Given the description of an element on the screen output the (x, y) to click on. 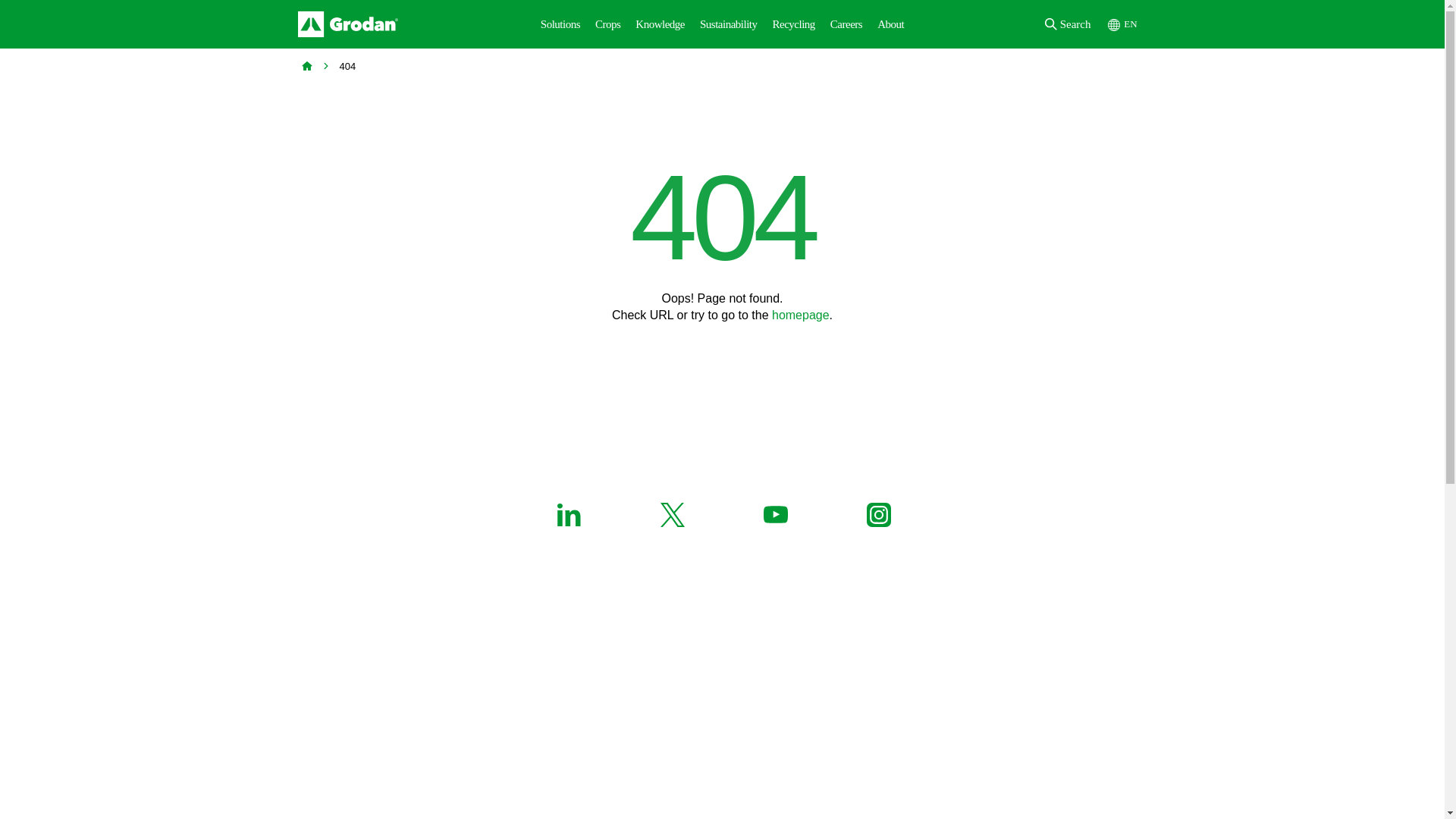
Search (1072, 24)
EN (1122, 24)
Solutions (560, 24)
Crops (607, 24)
About (890, 24)
Knowledge (660, 24)
Recycling (793, 24)
Careers (845, 24)
Sustainability (729, 24)
